Given the description of an element on the screen output the (x, y) to click on. 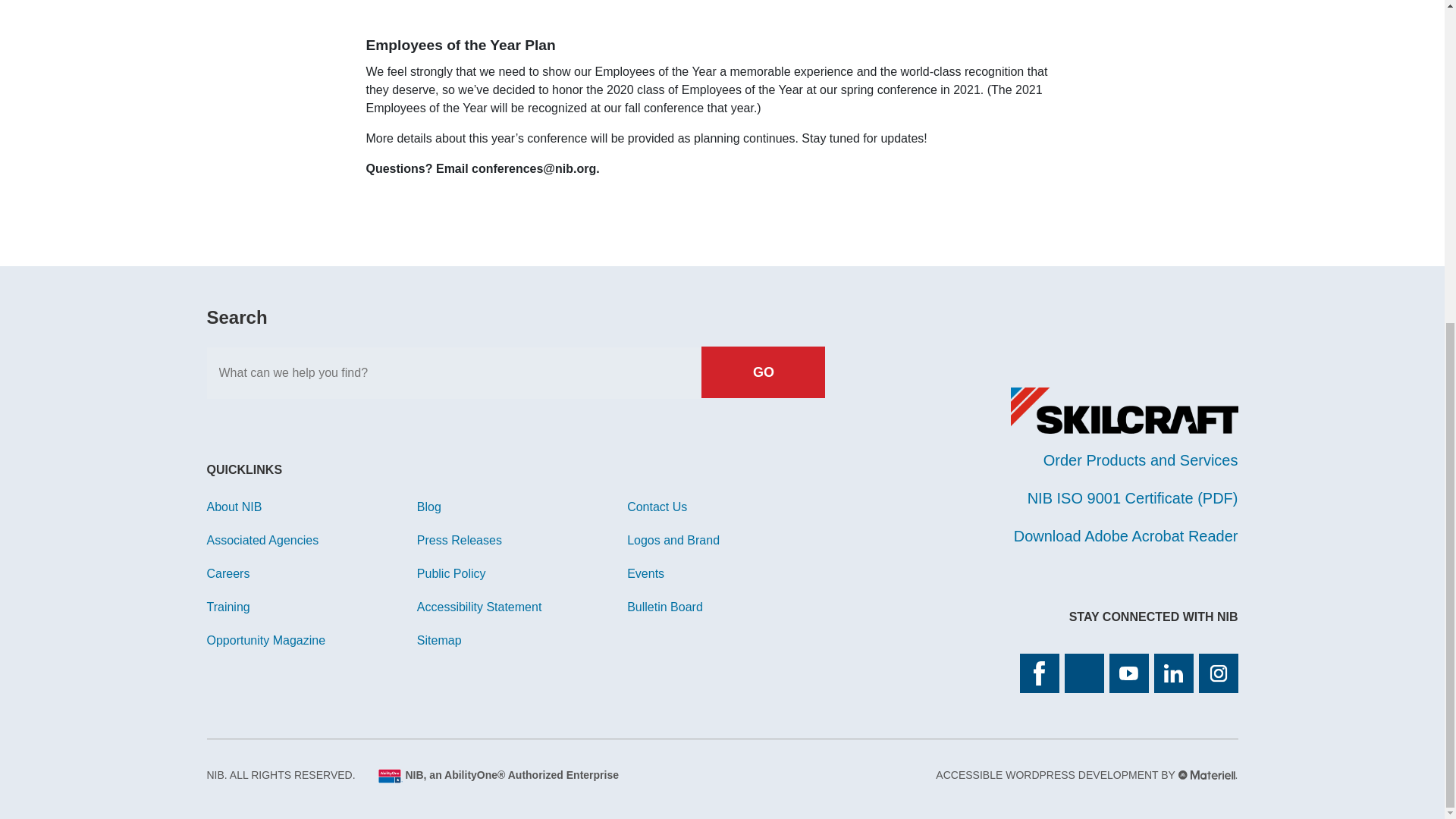
GO (763, 372)
